Given the description of an element on the screen output the (x, y) to click on. 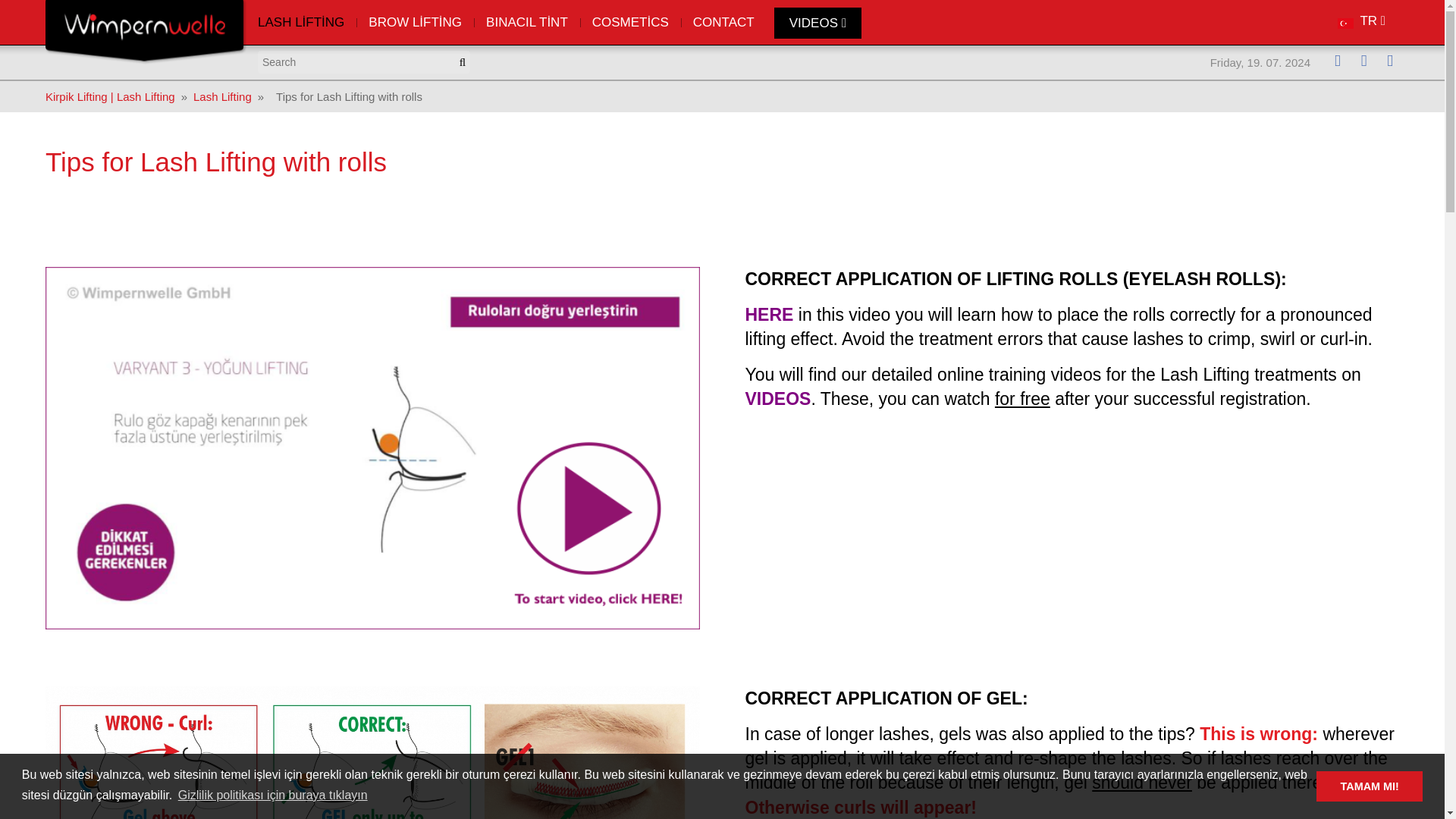
BINACIL TINT (526, 22)
LASH LIFTING (306, 22)
BROW LIFTING (415, 22)
Wimpernwelle (147, 32)
CONTACT (724, 22)
TR (1361, 22)
COSMETICS (630, 22)
Wimpernwelle (147, 18)
Lash Lifting Correct application of eyelash rolls (372, 752)
VIDEOS (817, 22)
TAMAM MI! (1369, 786)
